Given the description of an element on the screen output the (x, y) to click on. 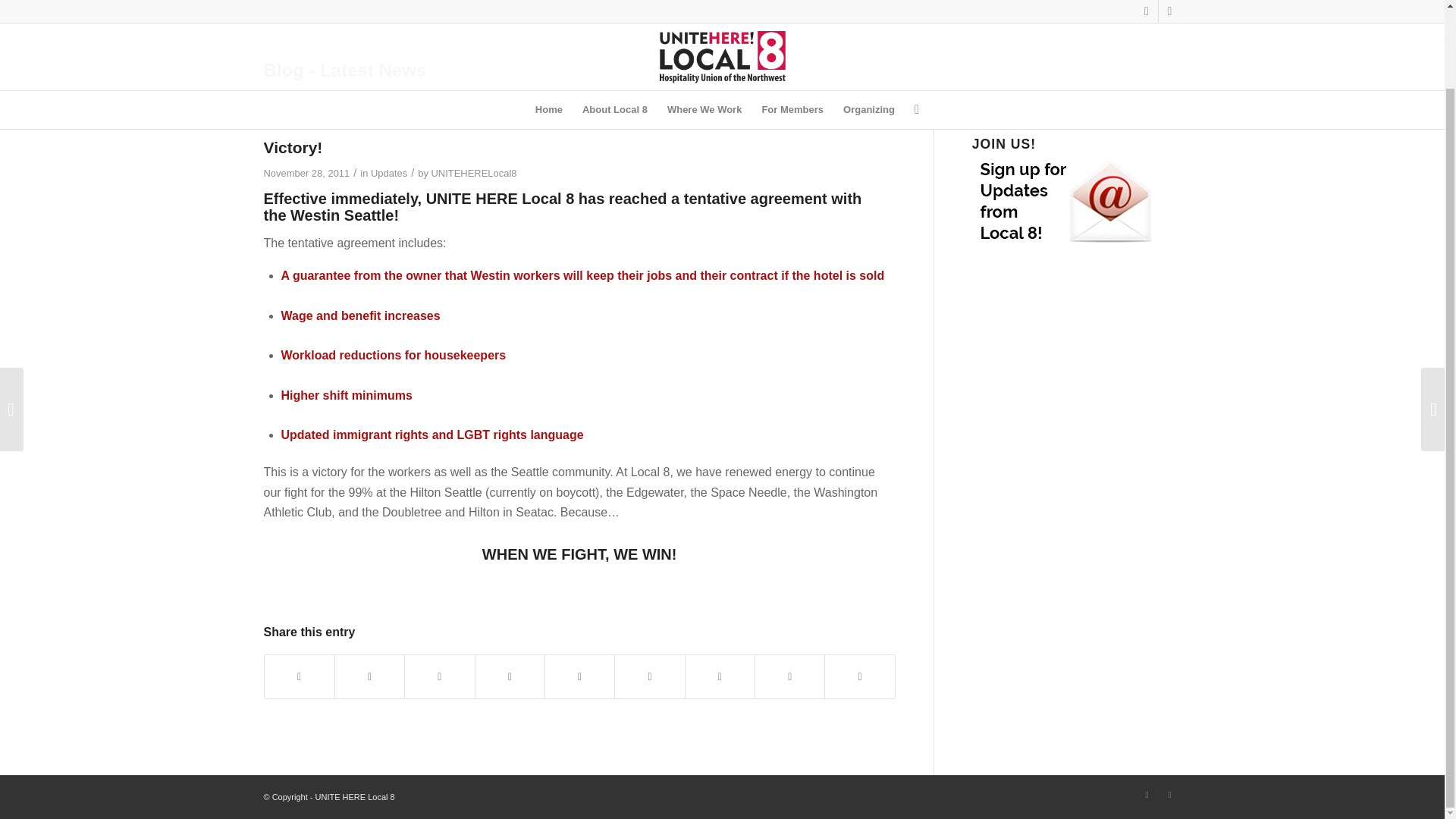
Home (548, 21)
Where We Work (704, 21)
UNITEHERELocal8 (473, 173)
Permanent Link: Blog - Latest News (344, 69)
Updates (389, 173)
For Members (791, 21)
Posts by UNITEHERELocal8 (473, 173)
Blog - Latest News (344, 69)
Organizing (868, 21)
About Local 8 (615, 21)
